Given the description of an element on the screen output the (x, y) to click on. 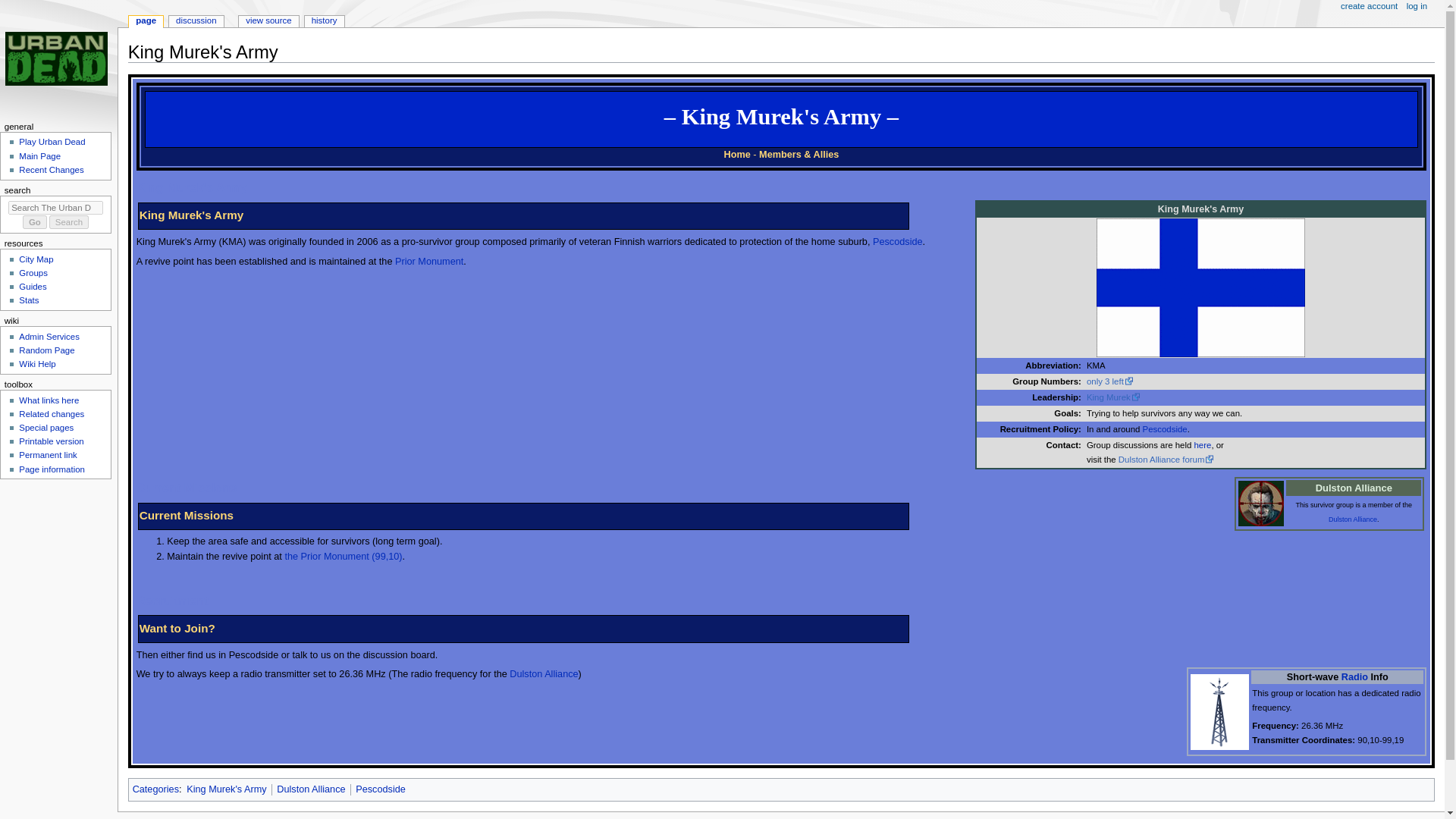
Radio (1354, 676)
log in (1416, 6)
discussion (196, 21)
Pescodside (380, 788)
Dulston Alliance (543, 674)
Pescodside (897, 241)
Categories (155, 788)
King Murek (1113, 397)
List of Revivification Points (342, 556)
page (146, 21)
Pescodside (1165, 429)
Pescodside (897, 241)
create account (1368, 6)
Go (34, 222)
Search (68, 222)
